Given the description of an element on the screen output the (x, y) to click on. 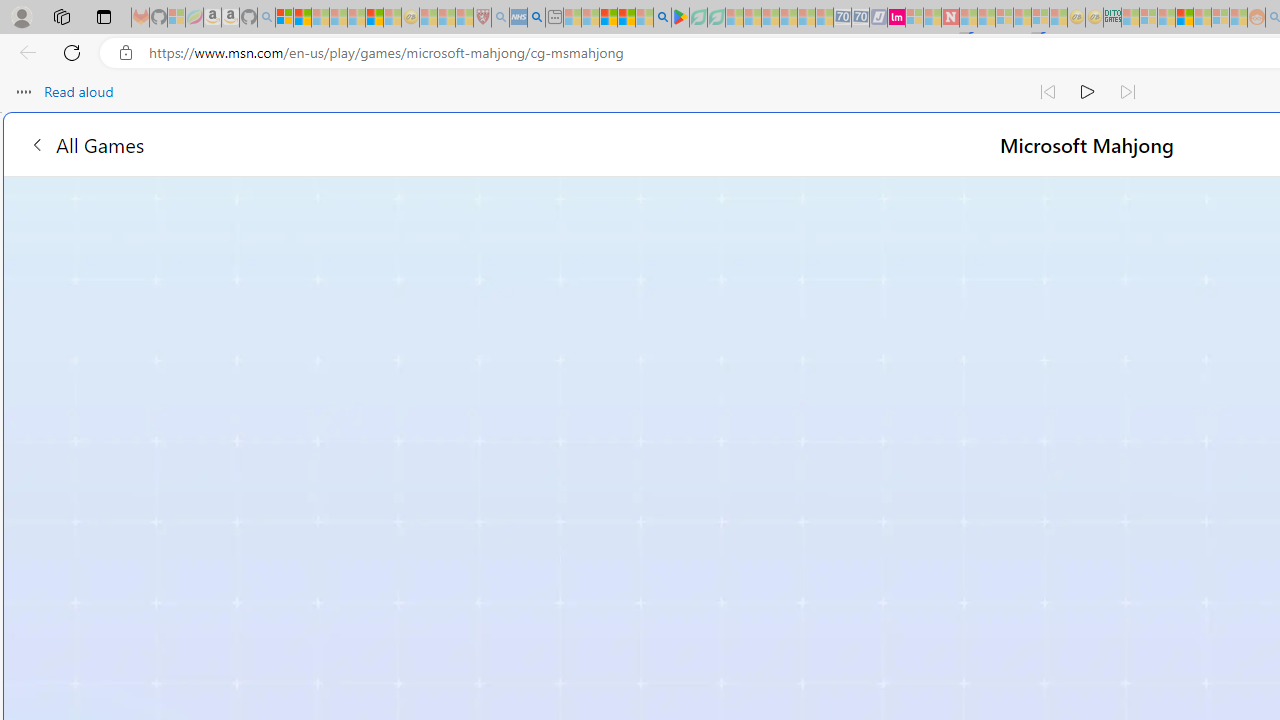
Trusted Community Engagement and Contributions | Guidelines (968, 17)
Microsoft Start (608, 17)
Microsoft account | Privacy - Sleeping (1148, 17)
All Games (86, 143)
Cheap Hotels - Save70.com - Sleeping (860, 17)
14 Common Myths Debunked By Scientific Facts - Sleeping (985, 17)
Cheap Car Rentals - Save70.com - Sleeping (842, 17)
DITOGAMES AG Imprint (1112, 17)
Back (24, 52)
list of asthma inhalers uk - Search - Sleeping (500, 17)
